Given the description of an element on the screen output the (x, y) to click on. 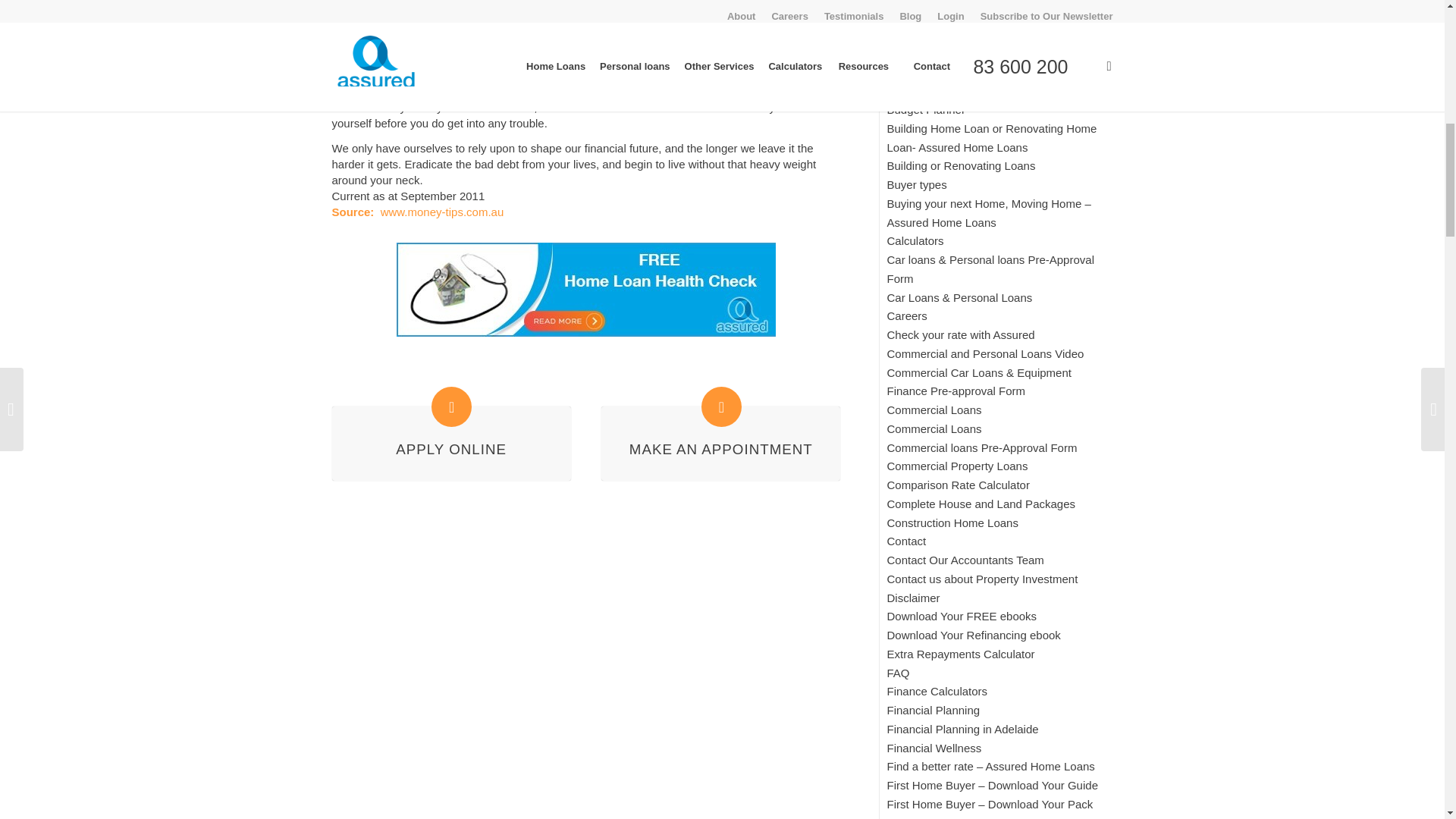
Make an appointment (720, 449)
Make an appointment (721, 406)
Apply Online (451, 449)
Apply Online (450, 406)
